Given the description of an element on the screen output the (x, y) to click on. 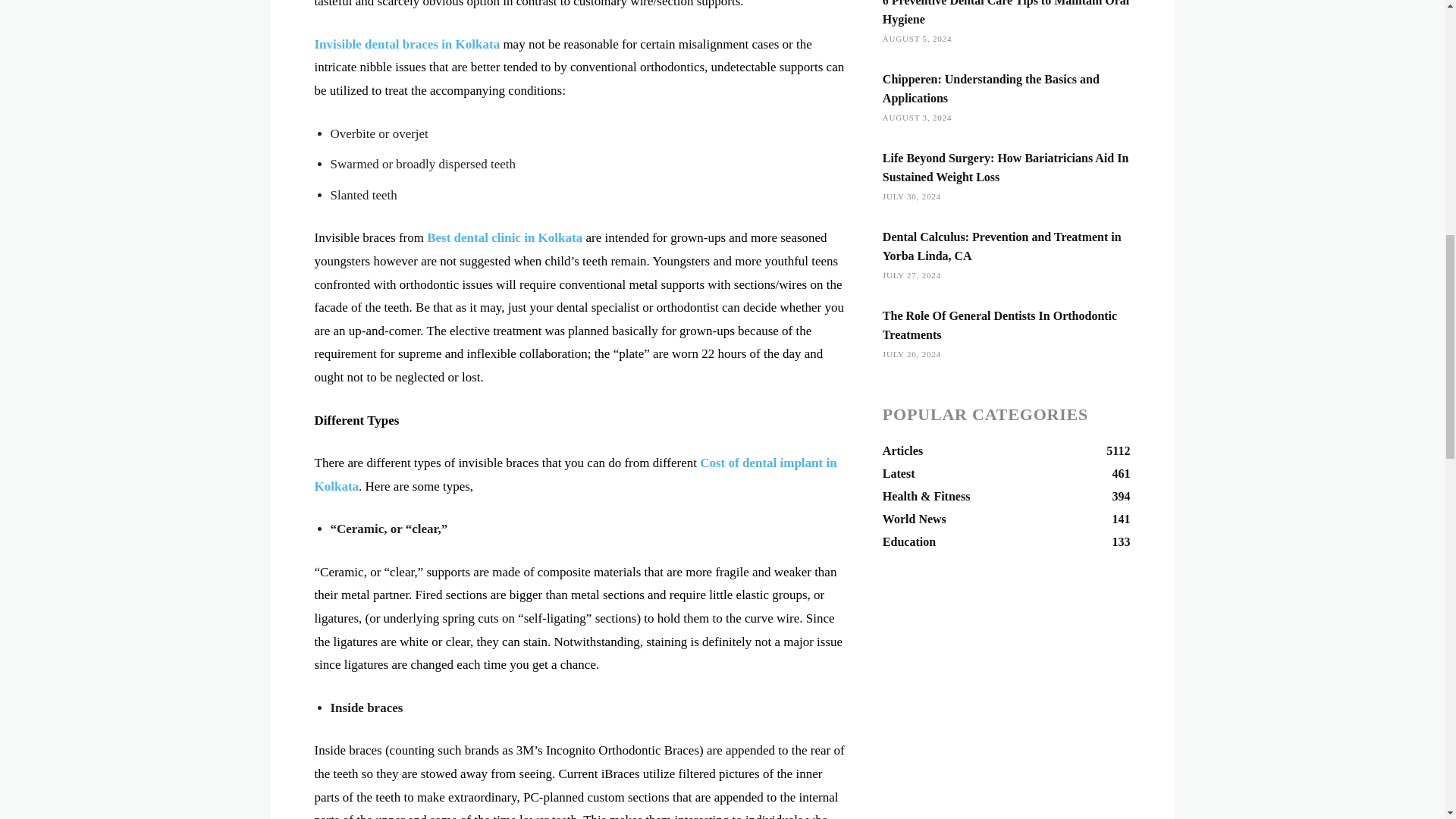
The Role Of General Dentists In Orthodontic Treatments (999, 325)
The Role Of General Dentists In Orthodontic Treatments (999, 325)
Cost of dental implant in Kolkata (574, 474)
Chipperen: Understanding the Basics and Applications (990, 88)
Invisible dental braces in Kolkata (406, 43)
Chipperen: Understanding the Basics and Applications (990, 88)
Dental Calculus: Prevention and Treatment in Yorba Linda, CA (1001, 246)
6 Preventive Dental Care Tips to Maintain Oral Hygiene (1005, 12)
Best dental clinic in Kolkata (504, 237)
6 Preventive Dental Care Tips to Maintain Oral Hygiene (1005, 12)
